Given the description of an element on the screen output the (x, y) to click on. 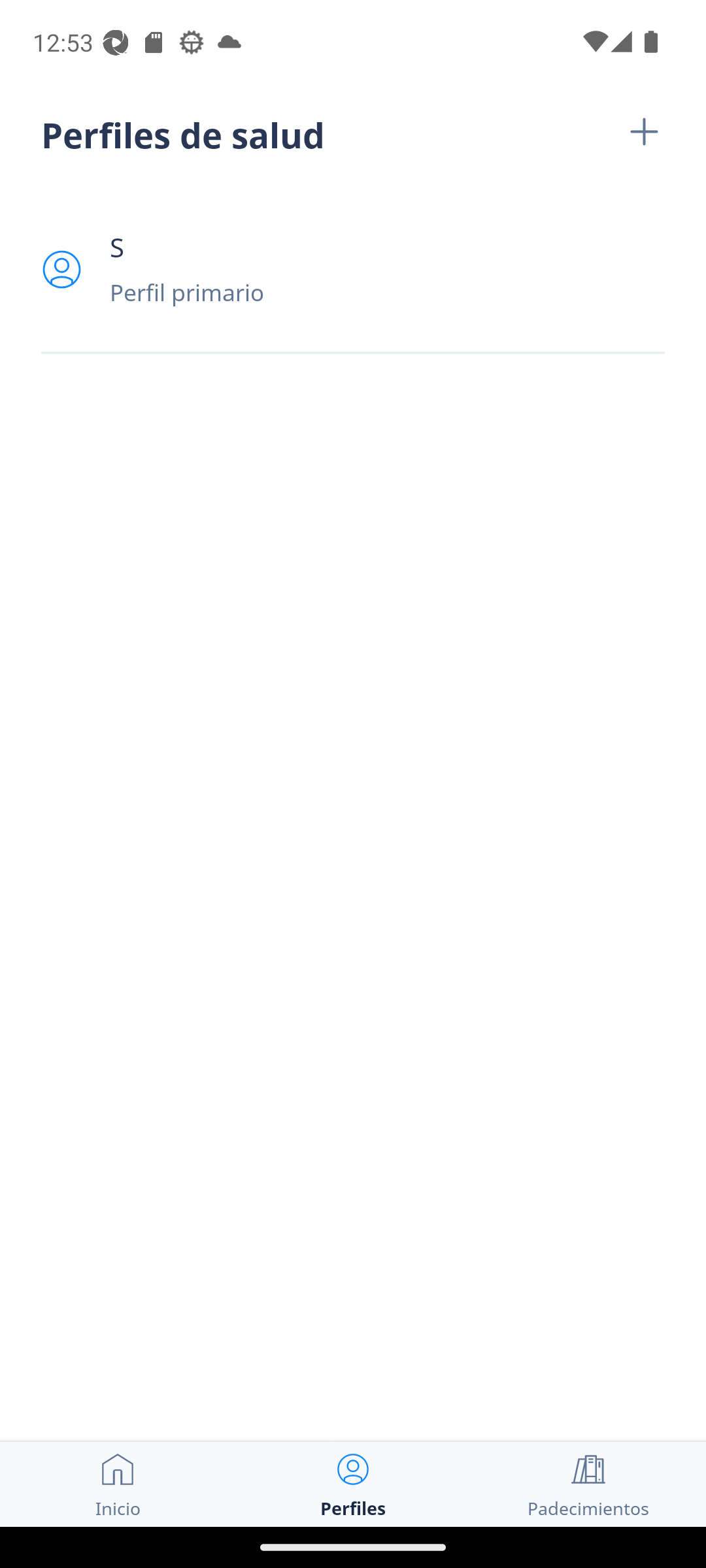
S Perfil primario (352, 269)
Inicio (117, 1484)
Perfiles (352, 1484)
Padecimientos (588, 1484)
